Given the description of an element on the screen output the (x, y) to click on. 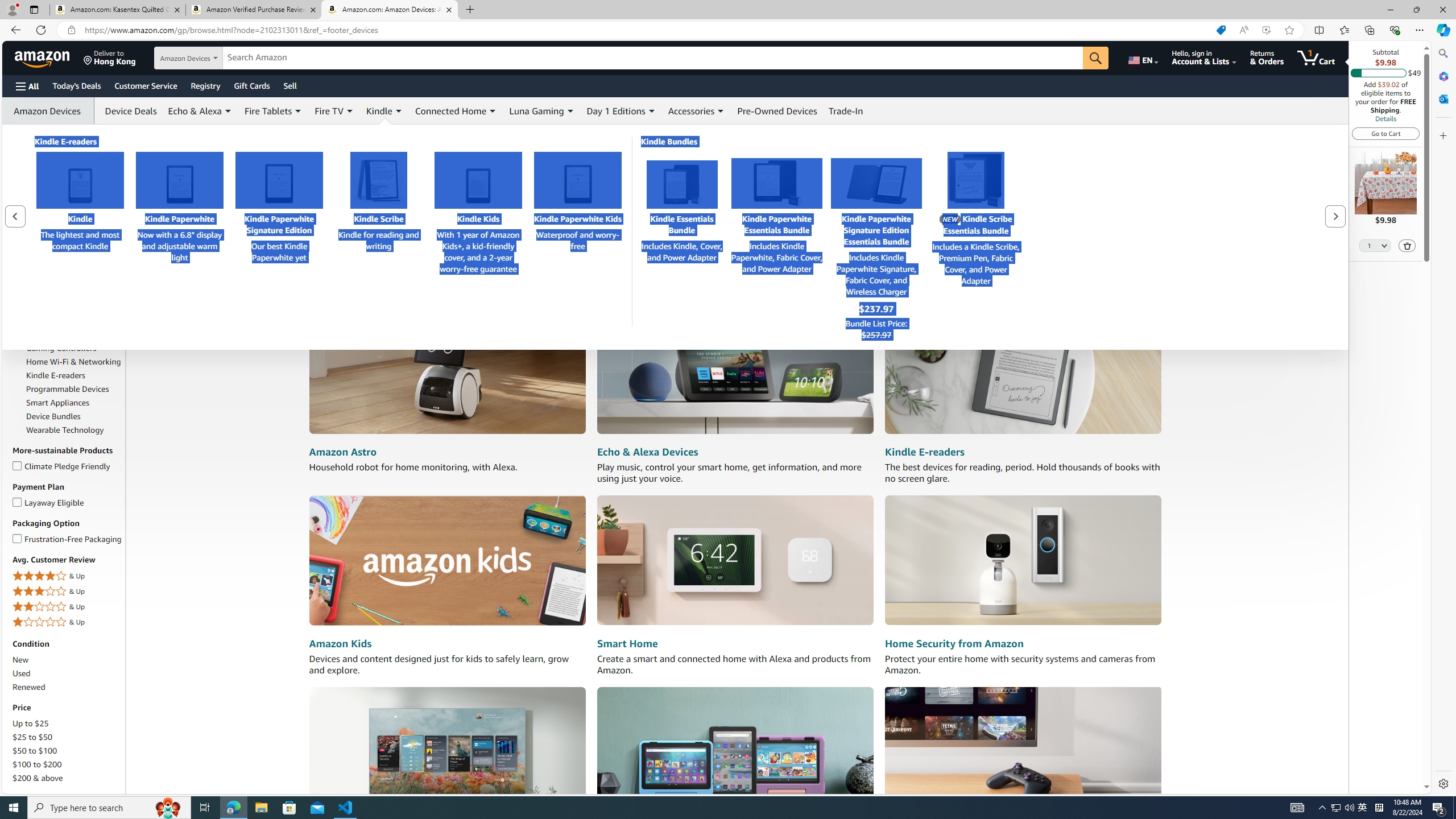
Kindle ScribeKindle for reading and writing (378, 236)
Last 90 days (67, 167)
4 Stars & Up (67, 576)
Layaway Eligible (17, 500)
Amazon Astro (447, 369)
Home Security from Amazon (953, 643)
Echo Smart Speakers & Displays (74, 300)
4 Stars & Up& Up (67, 576)
2 Stars & Up& Up (67, 606)
Expand Kindle (397, 111)
Open Menu (26, 86)
Fire TV devices (447, 751)
Quantity Selector (1374, 245)
Amazon Astro (342, 451)
